Given the description of an element on the screen output the (x, y) to click on. 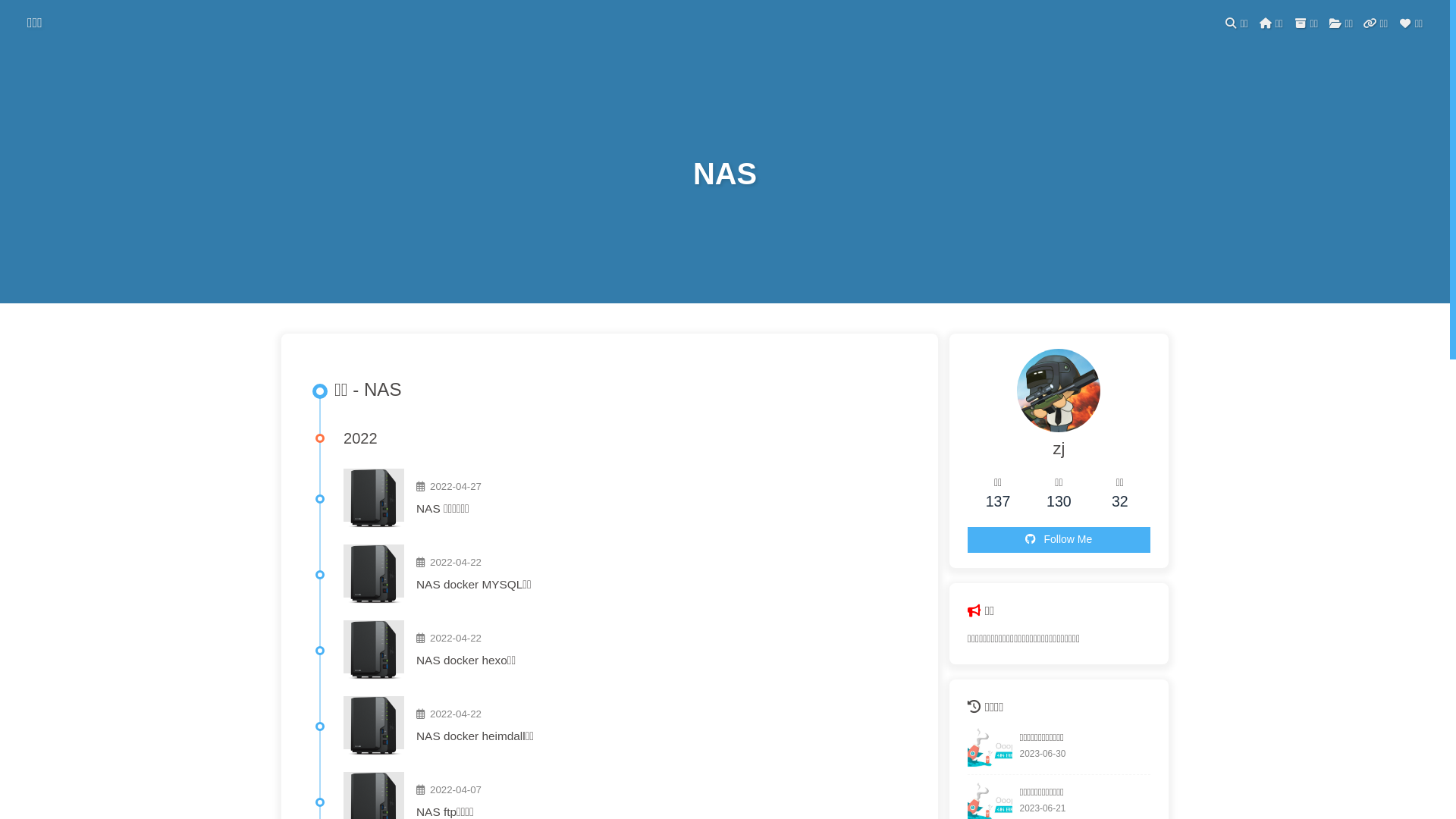
Follow Me Element type: text (1058, 539)
